Given the description of an element on the screen output the (x, y) to click on. 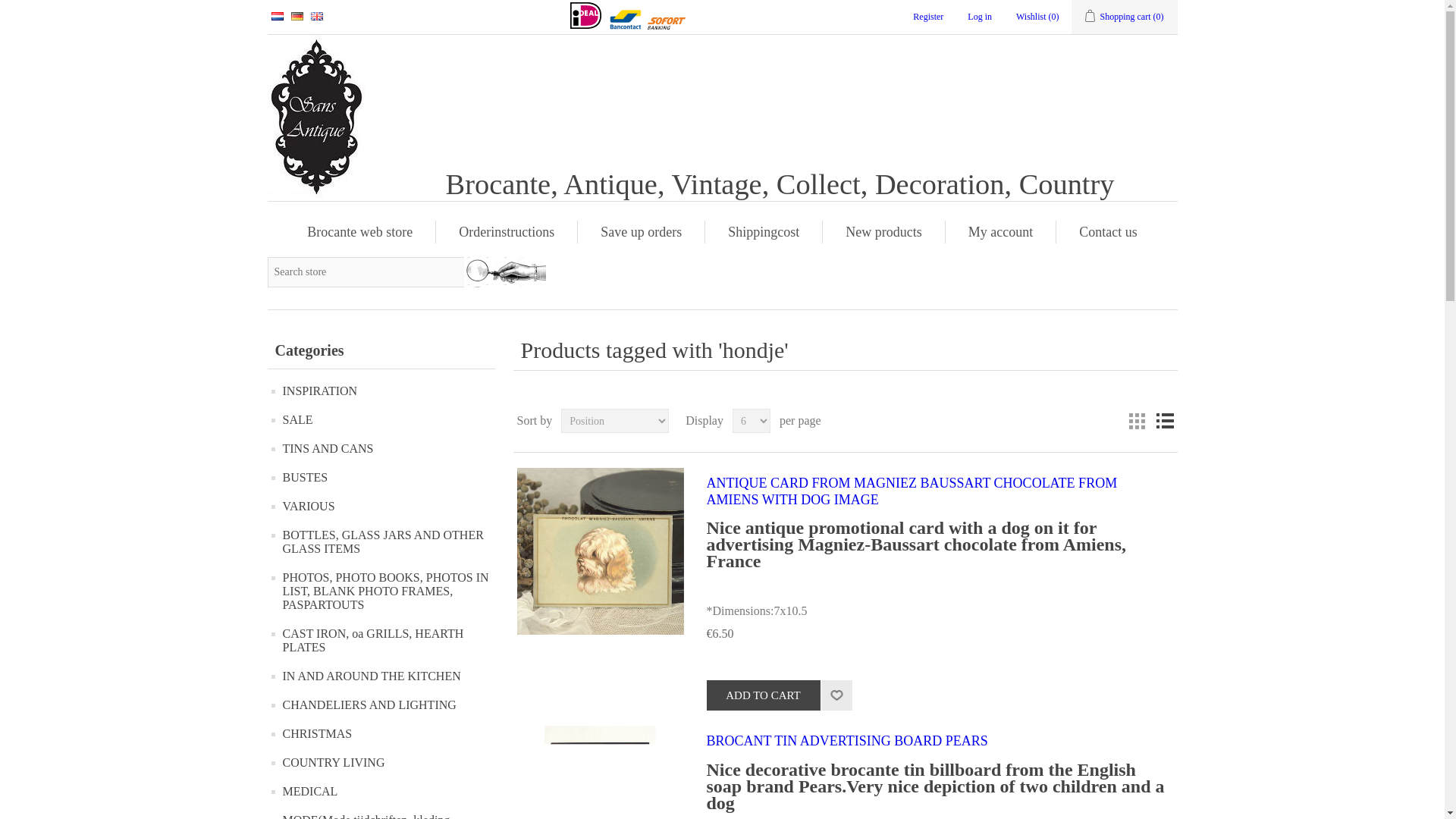
Engels (317, 16)
My account (1000, 231)
Register (927, 17)
Add to wishlist (836, 695)
brocante reclamebord pears soap (599, 772)
Add to wishlist (836, 695)
Brocante web store (359, 231)
Shippingcost (763, 231)
Add to cart (763, 695)
oud  chocolade reclame plaatje hondje (600, 550)
